Given the description of an element on the screen output the (x, y) to click on. 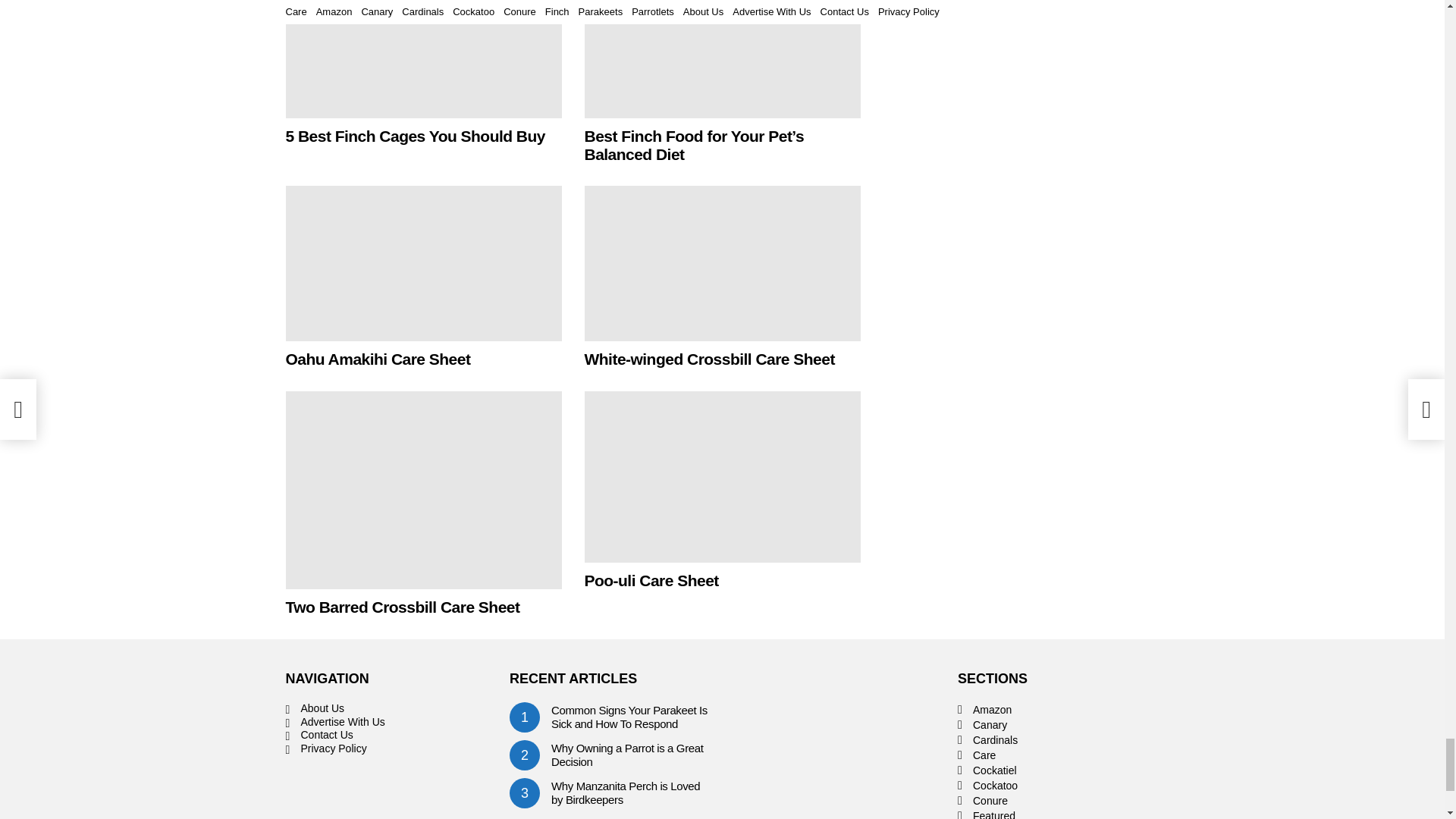
Oahu Amakihi Care Sheet (422, 263)
White-winged Crossbill Care Sheet (721, 263)
Poo-uli Care Sheet (721, 476)
5 Best Finch Cages You Should Buy (422, 58)
Two Barred Crossbill Care Sheet (422, 489)
